Given the description of an element on the screen output the (x, y) to click on. 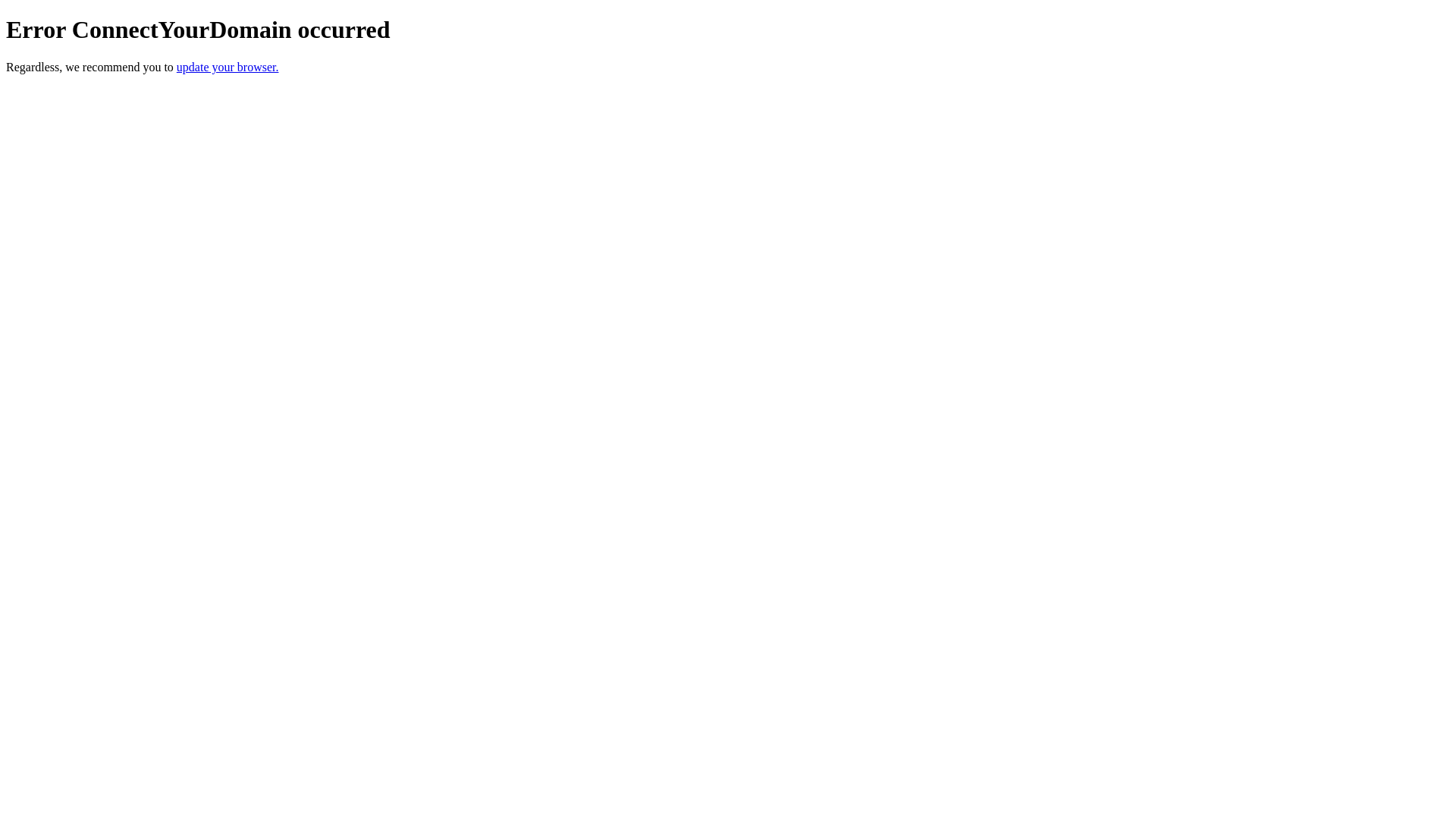
update your browser. Element type: text (227, 66)
